Given the description of an element on the screen output the (x, y) to click on. 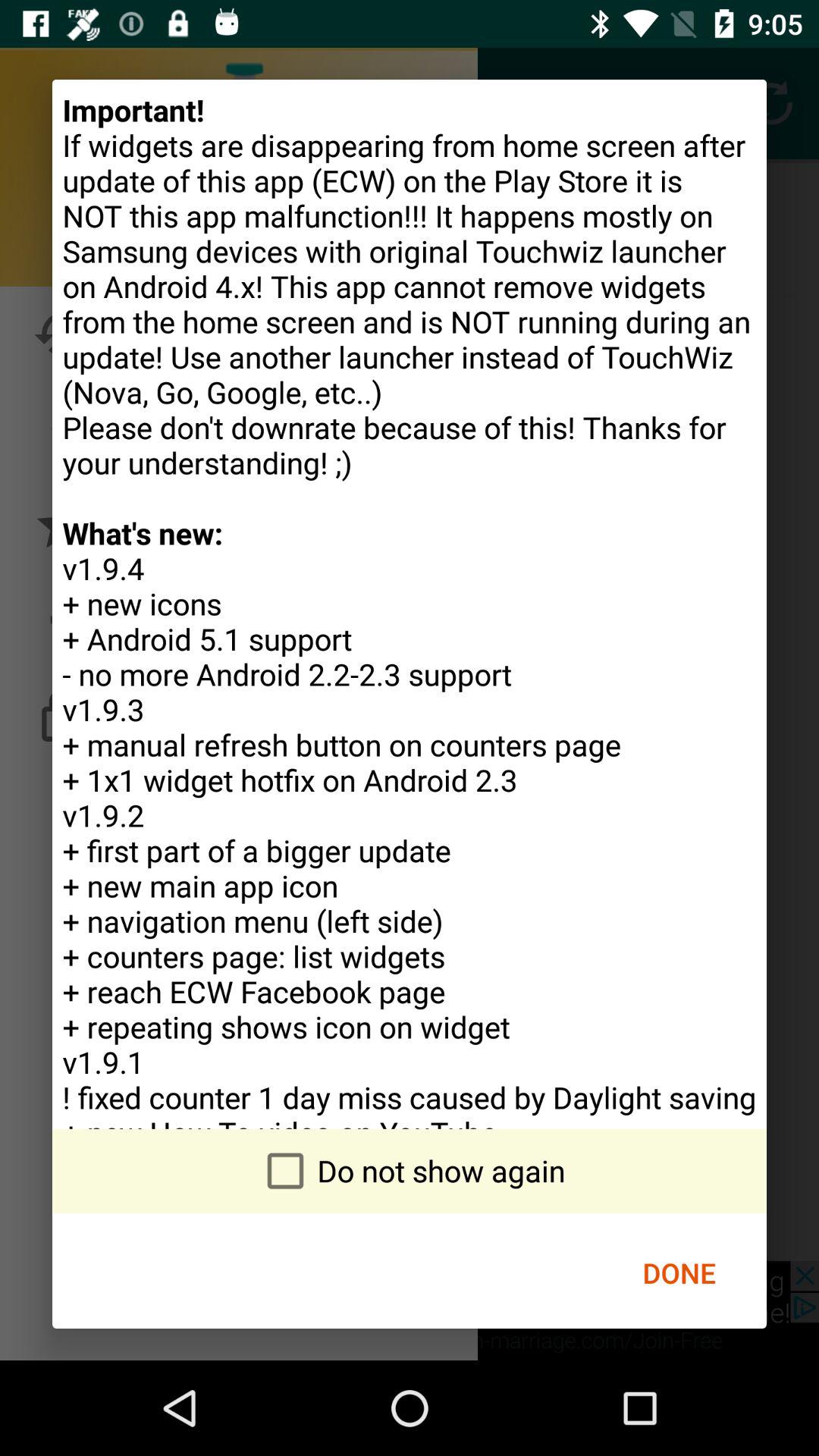
launch the item below the important if widgets (409, 1170)
